Given the description of an element on the screen output the (x, y) to click on. 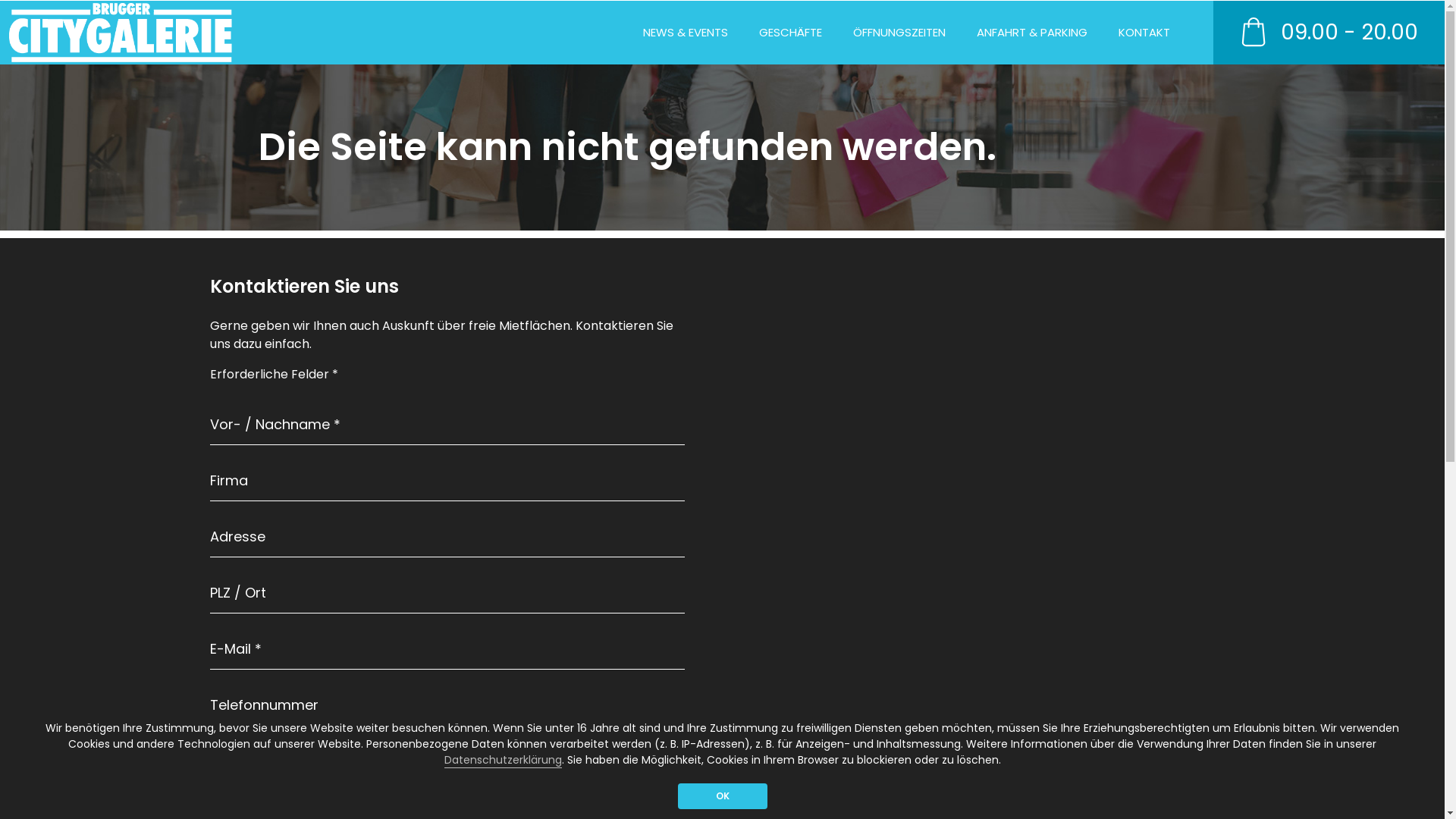
ANFAHRT & PARKING Element type: text (1031, 32)
OK Element type: text (722, 796)
09.00 - 20.00 Element type: text (1324, 32)
NEWS & EVENTS Element type: text (685, 32)
KONTAKT Element type: text (1143, 32)
